Given the description of an element on the screen output the (x, y) to click on. 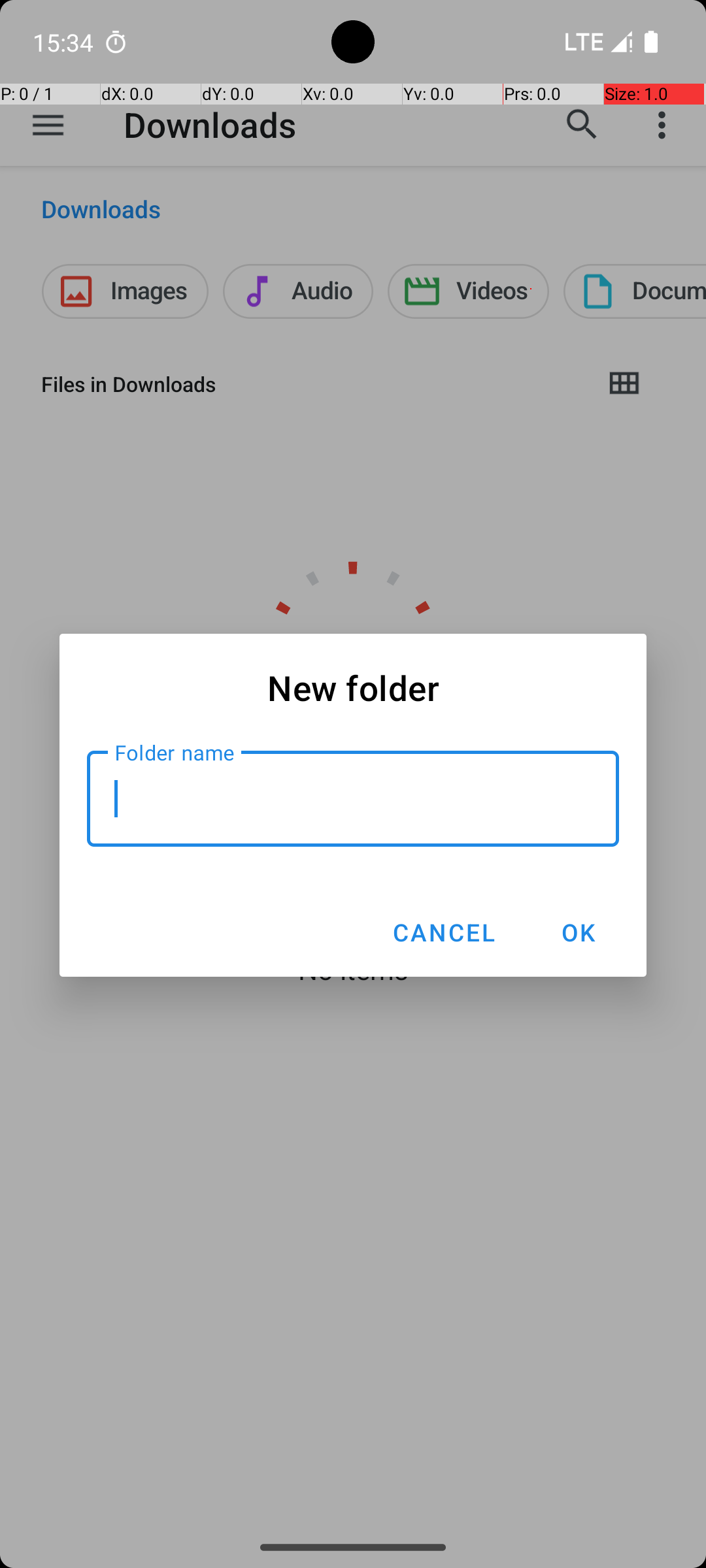
New folder Element type: android.widget.TextView (352, 687)
Folder name Element type: android.widget.EditText (352, 798)
